Given the description of an element on the screen output the (x, y) to click on. 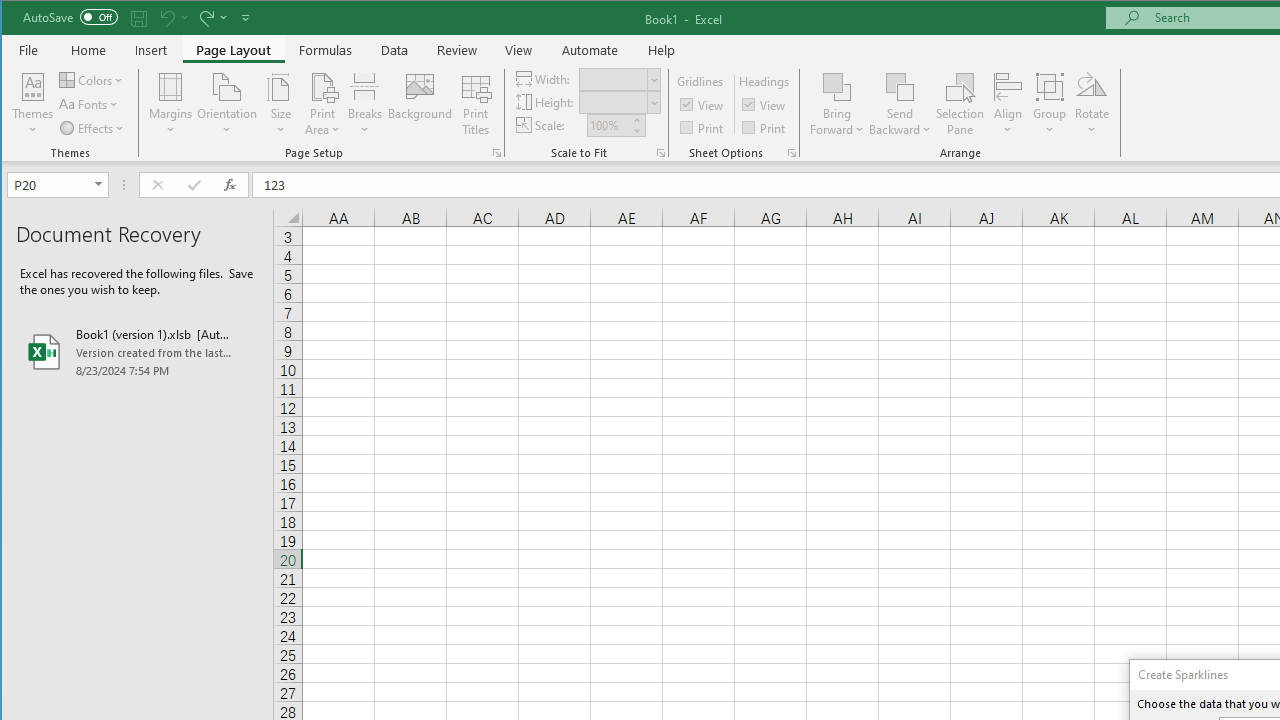
Background... (420, 104)
Width (612, 79)
Bring Forward (836, 104)
Group (1050, 104)
Themes (33, 104)
Align (1007, 104)
Print Area (323, 104)
